Given the description of an element on the screen output the (x, y) to click on. 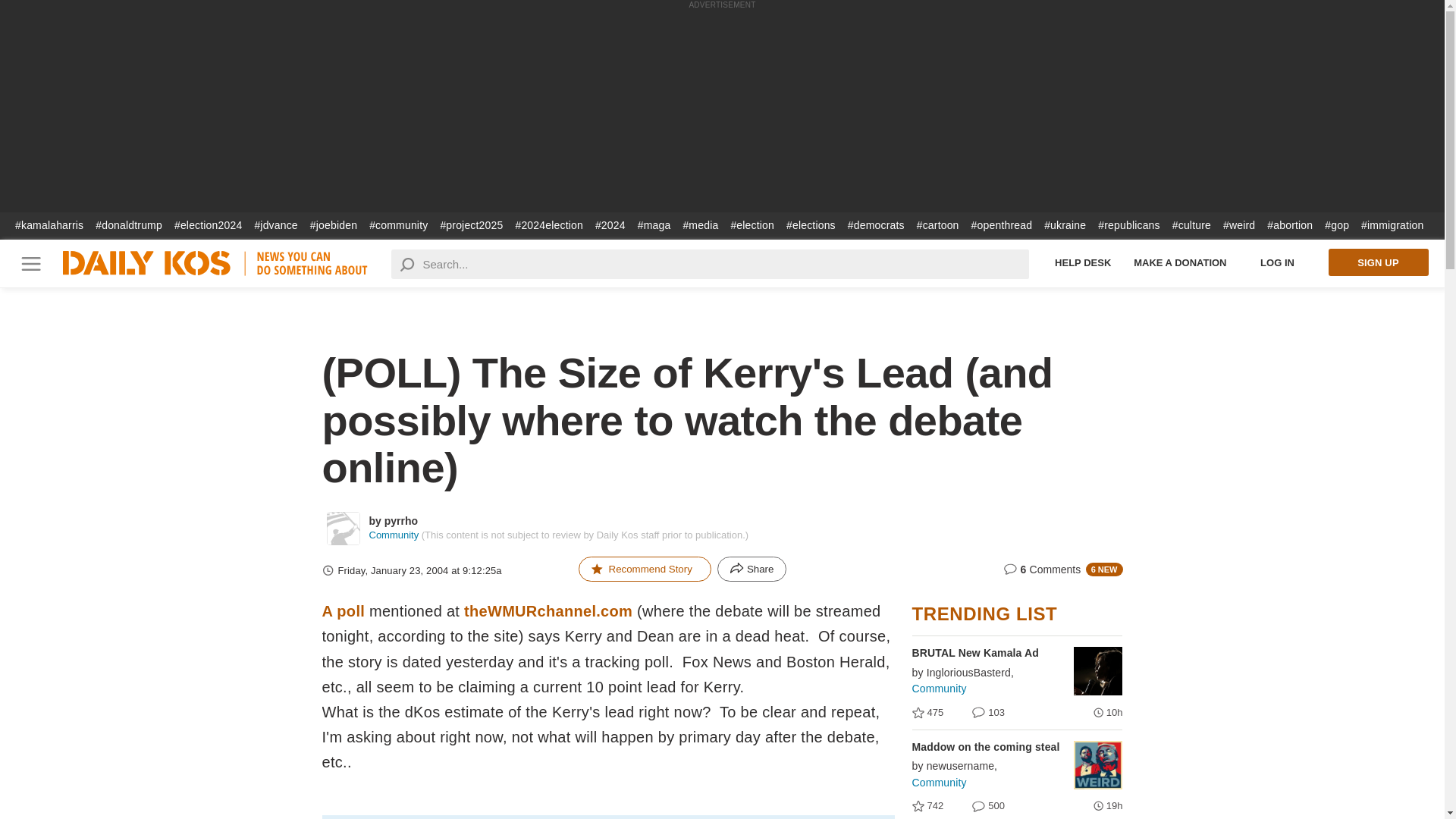
Make a Donation (1375, 262)
Help Desk (1277, 262)
MAKE A DONATION (1375, 262)
